Given the description of an element on the screen output the (x, y) to click on. 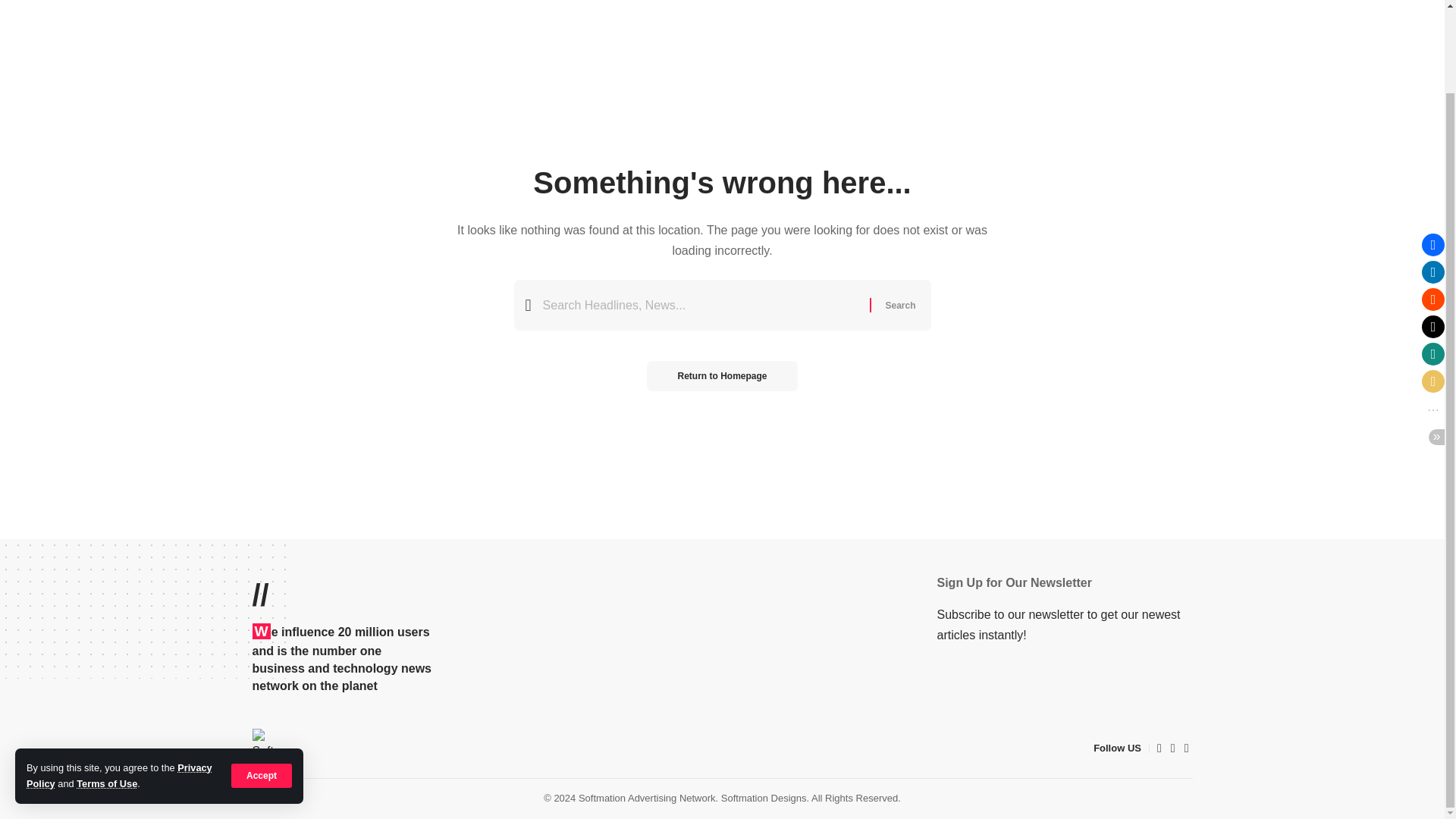
Softmation (270, 747)
Search (899, 305)
Terms of Use (106, 689)
Privacy Policy (119, 681)
Accept (261, 681)
